Given the description of an element on the screen output the (x, y) to click on. 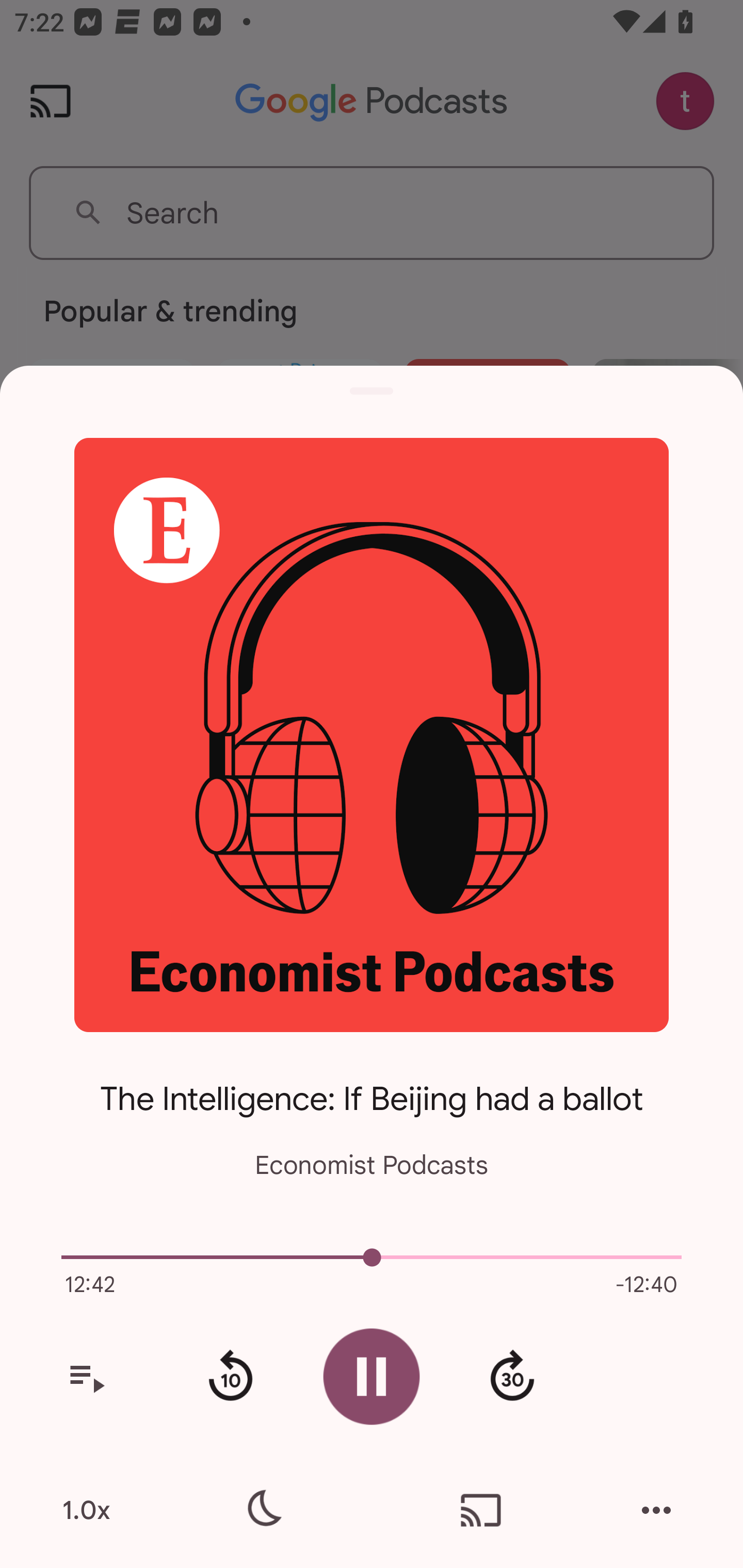
Open the show page for Economist Podcasts (371, 734)
5007.0 Current episode playback (371, 1257)
Pause (371, 1376)
View your queue (86, 1376)
Rewind 10 seconds (230, 1376)
Fast forward 30 second (511, 1376)
1.0x Playback speed is 1.0. (86, 1510)
Sleep timer settings (261, 1510)
Cast. Disconnected (480, 1510)
More actions (655, 1510)
